Given the description of an element on the screen output the (x, y) to click on. 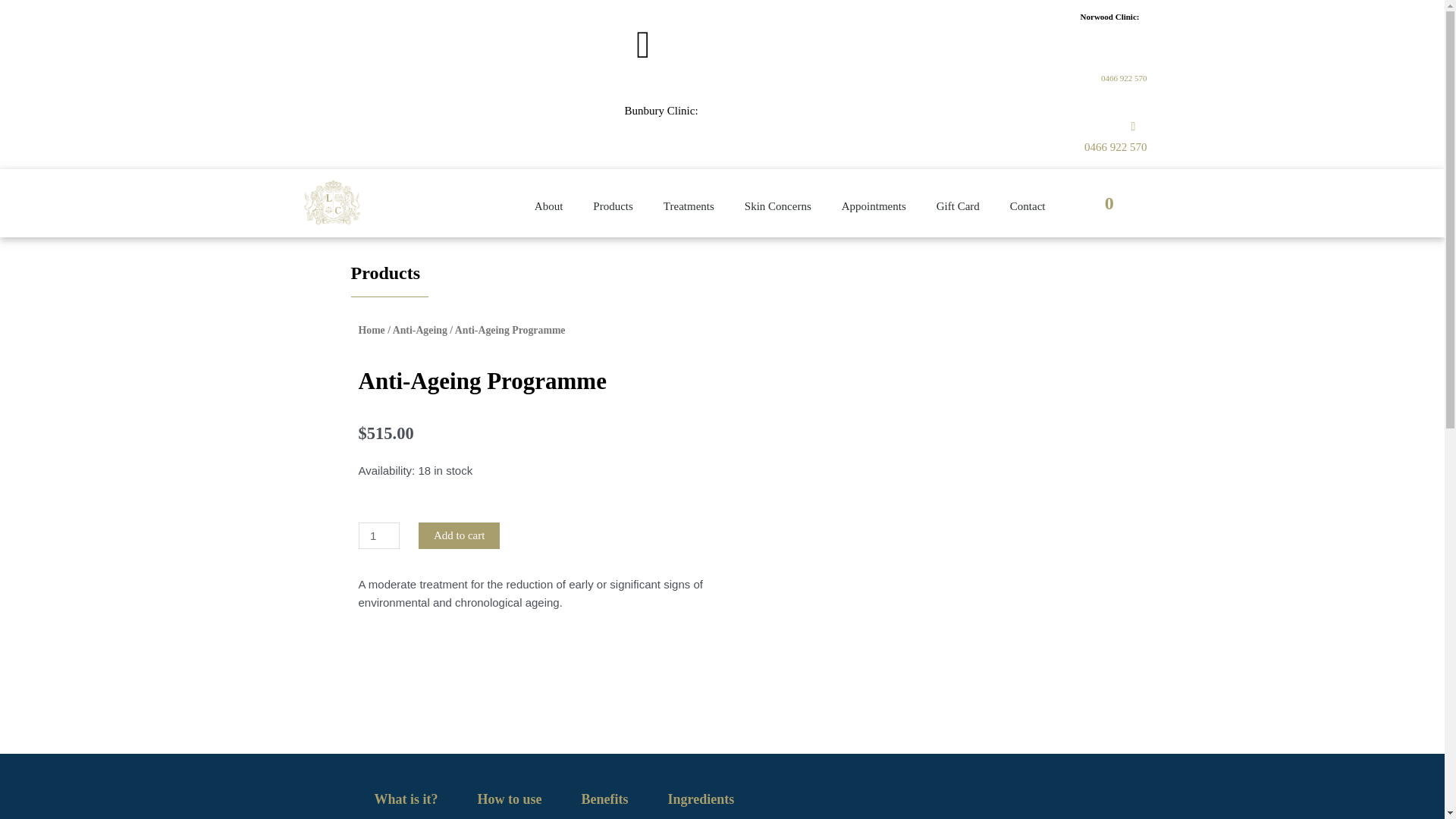
Appointments Element type: text (873, 205)
0466 922 570 Element type: text (1115, 147)
Home Element type: text (370, 329)
Gift Card Element type: text (957, 205)
Add to cart Element type: text (458, 535)
Anti-Ageing Element type: text (419, 329)
0 Element type: text (1111, 203)
Contact Element type: text (1027, 205)
Products Element type: text (612, 205)
0466 922 570 Element type: text (1124, 77)
Skin Concerns Element type: text (777, 205)
About Element type: text (548, 205)
Treatments Element type: text (688, 205)
